Given the description of an element on the screen output the (x, y) to click on. 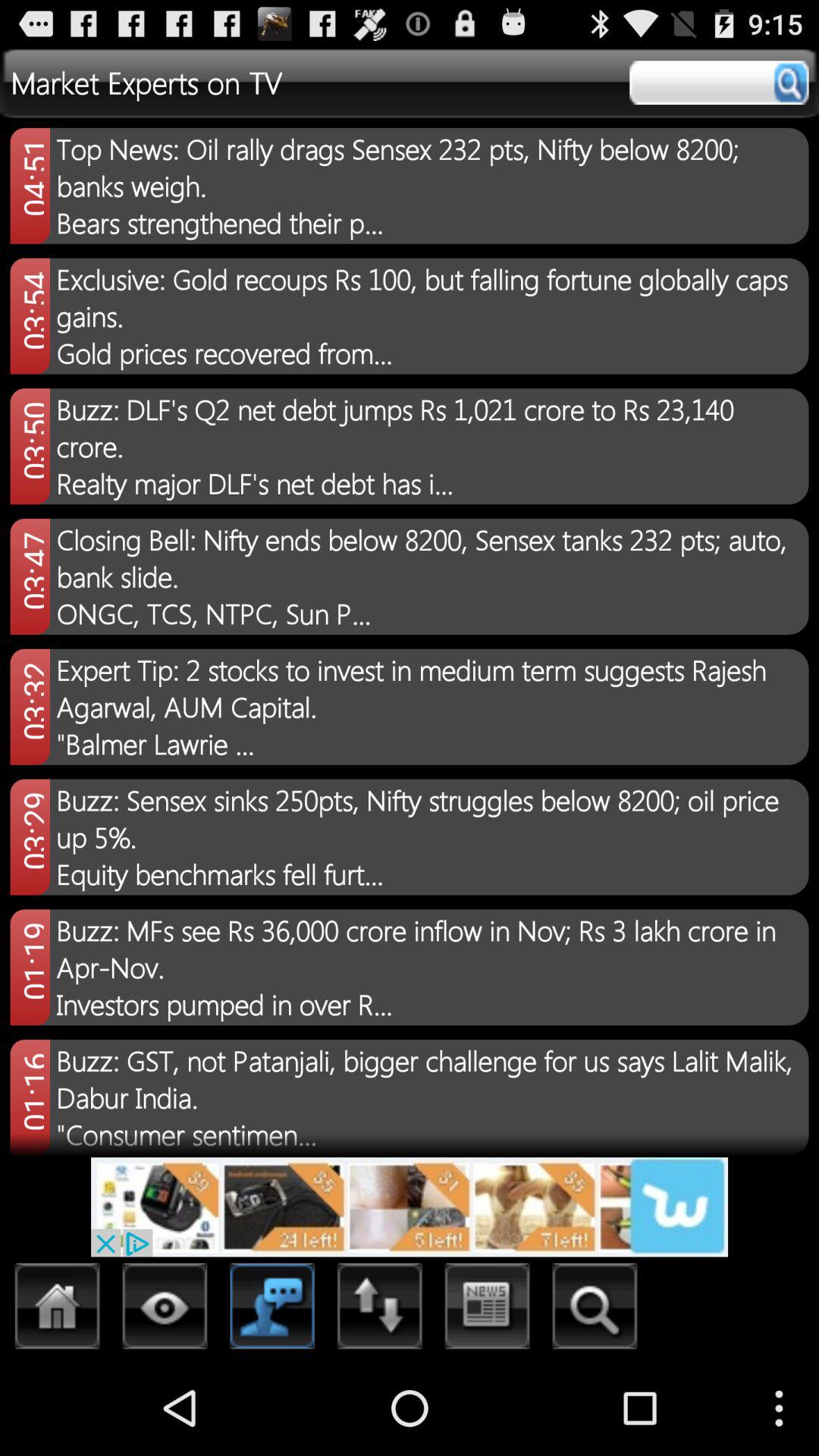
add banner (409, 1206)
